Given the description of an element on the screen output the (x, y) to click on. 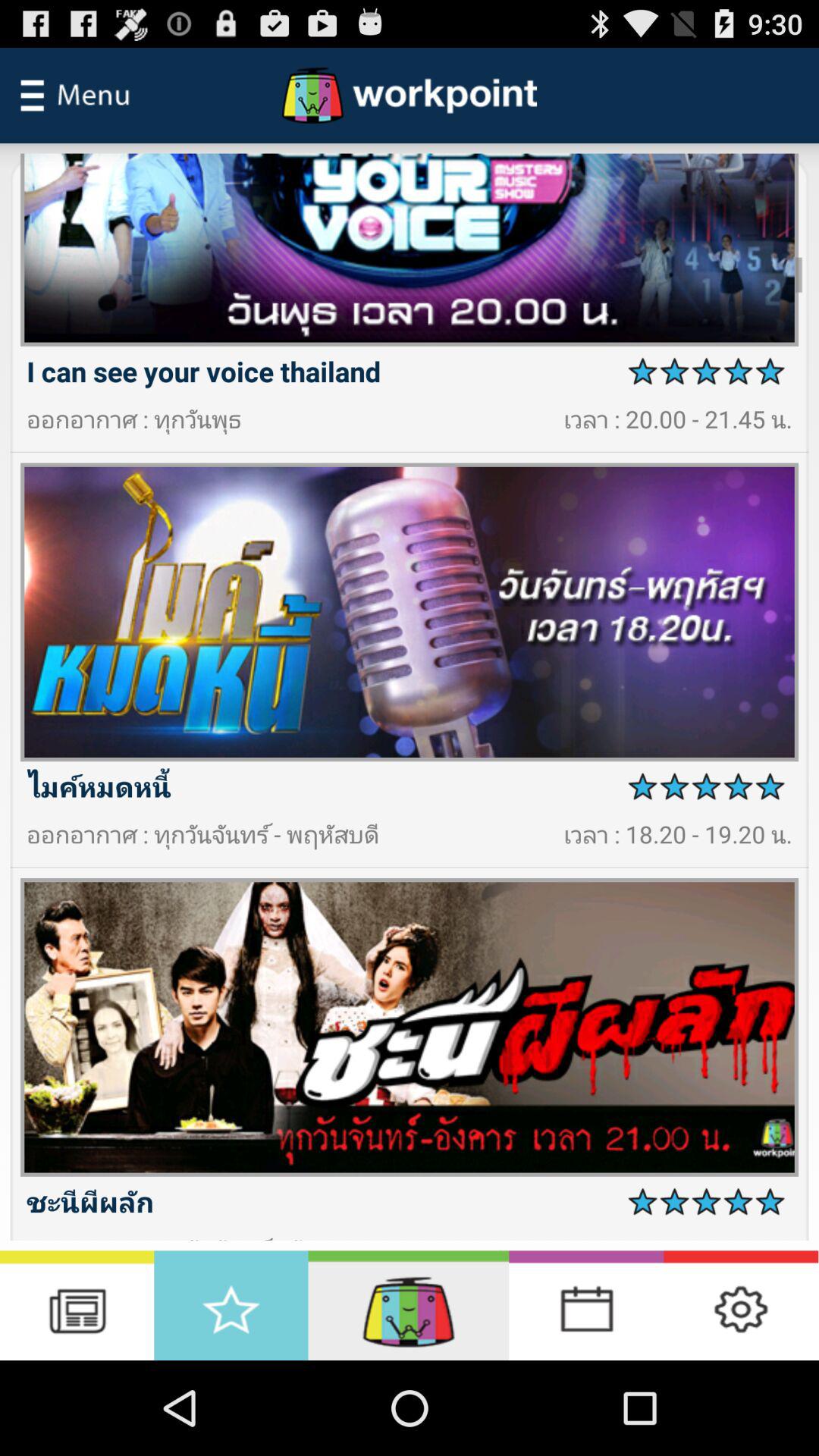
twitter (740, 1305)
